Given the description of an element on the screen output the (x, y) to click on. 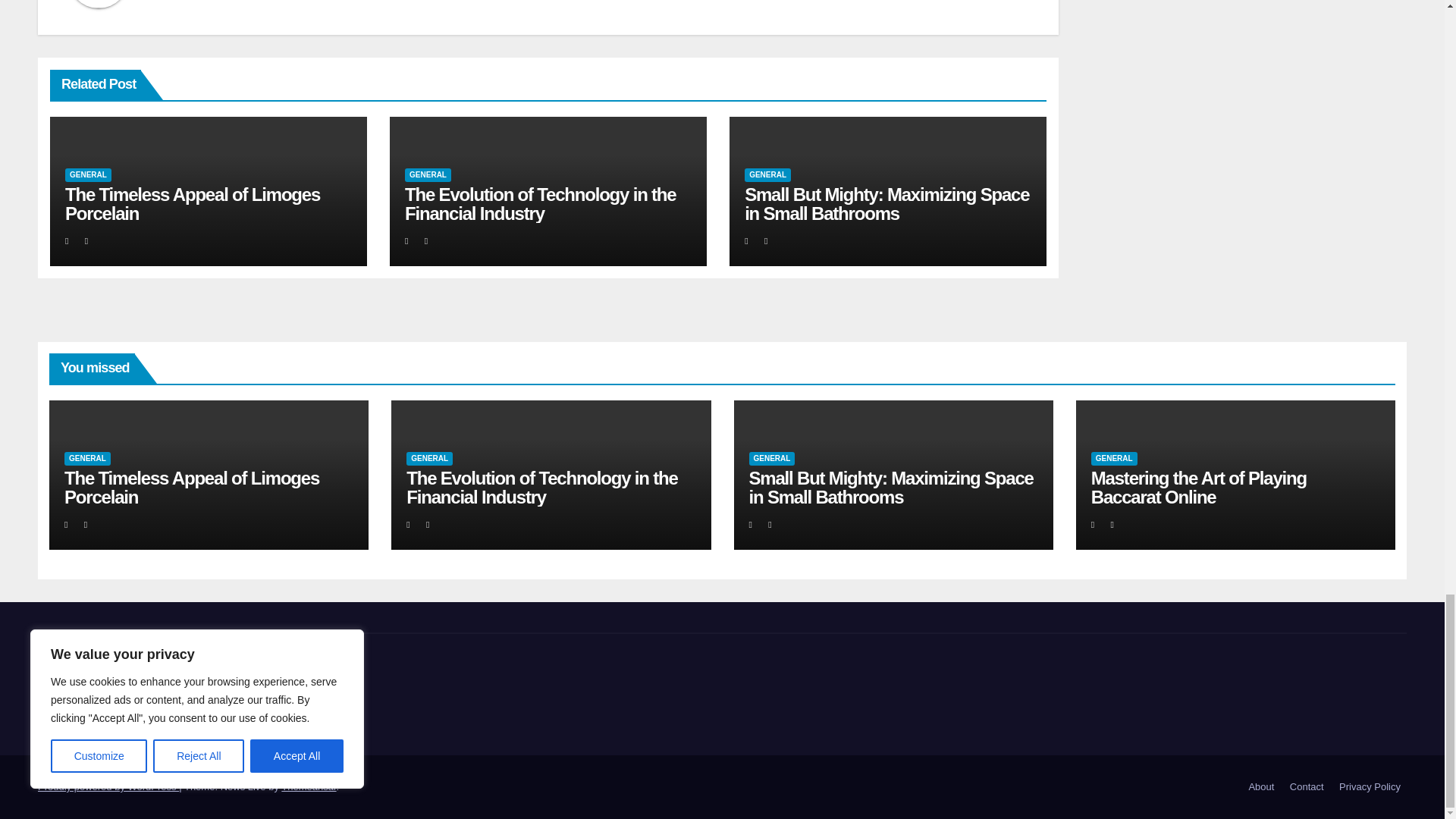
Privacy Policy (1369, 786)
About (1260, 786)
Permalink to: Mastering the Art of Playing Baccarat Online (1198, 486)
Contact (1307, 786)
Permalink to: The Timeless Appeal of Limoges Porcelain (191, 486)
Permalink to: The Timeless Appeal of Limoges Porcelain (192, 203)
